Given the description of an element on the screen output the (x, y) to click on. 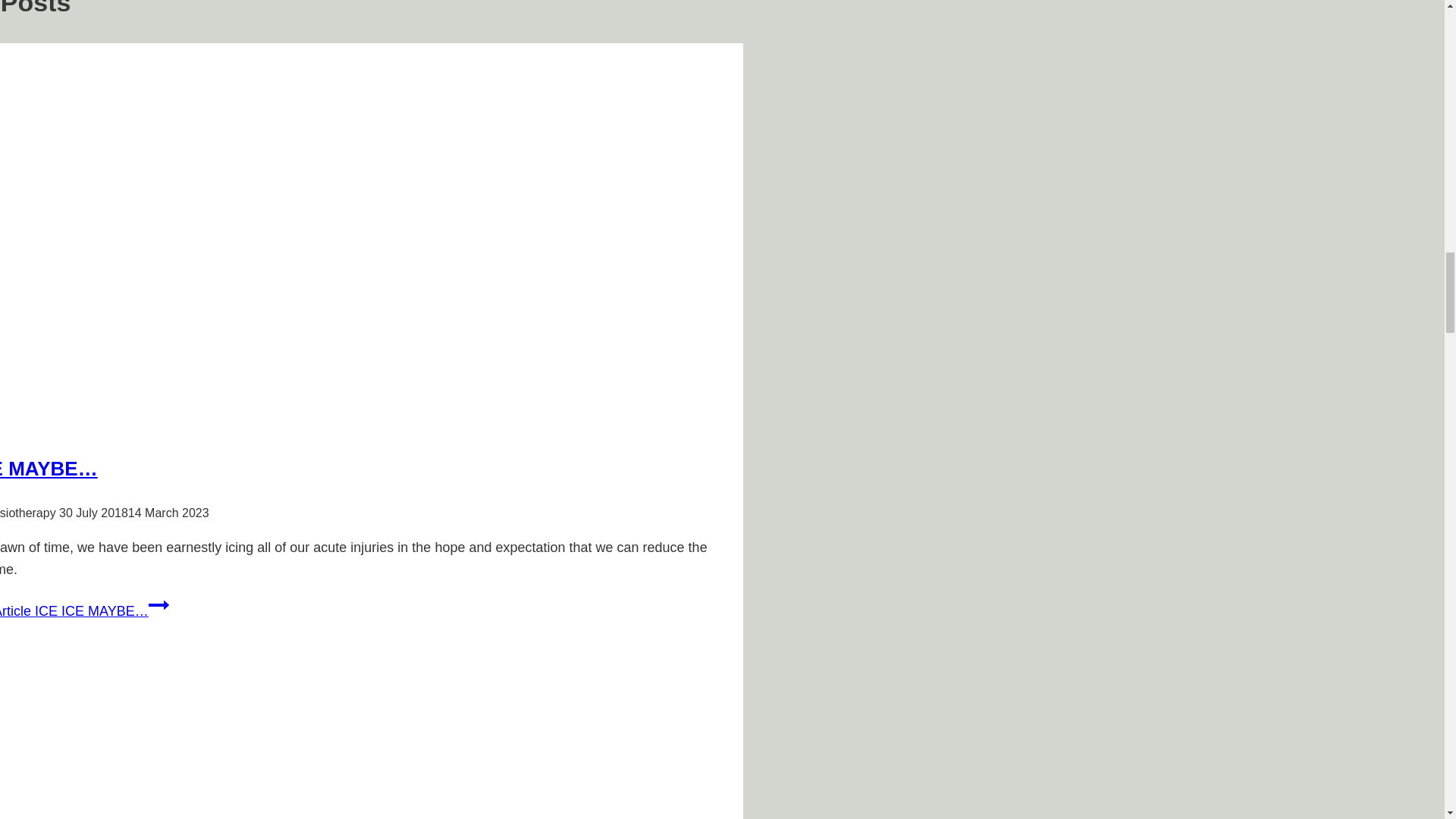
Continue (158, 604)
